Given the description of an element on the screen output the (x, y) to click on. 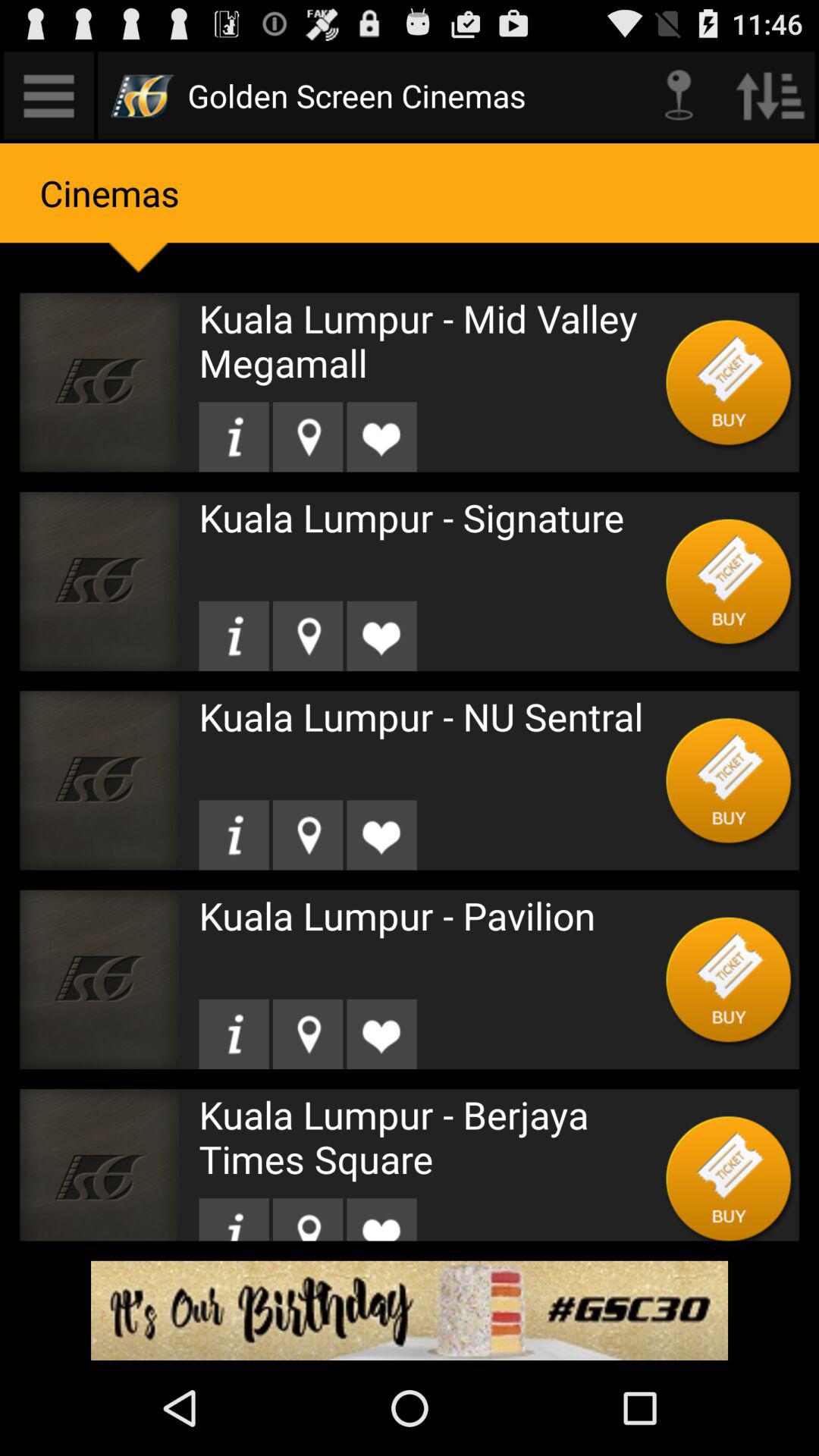
heart the video (381, 437)
